Given the description of an element on the screen output the (x, y) to click on. 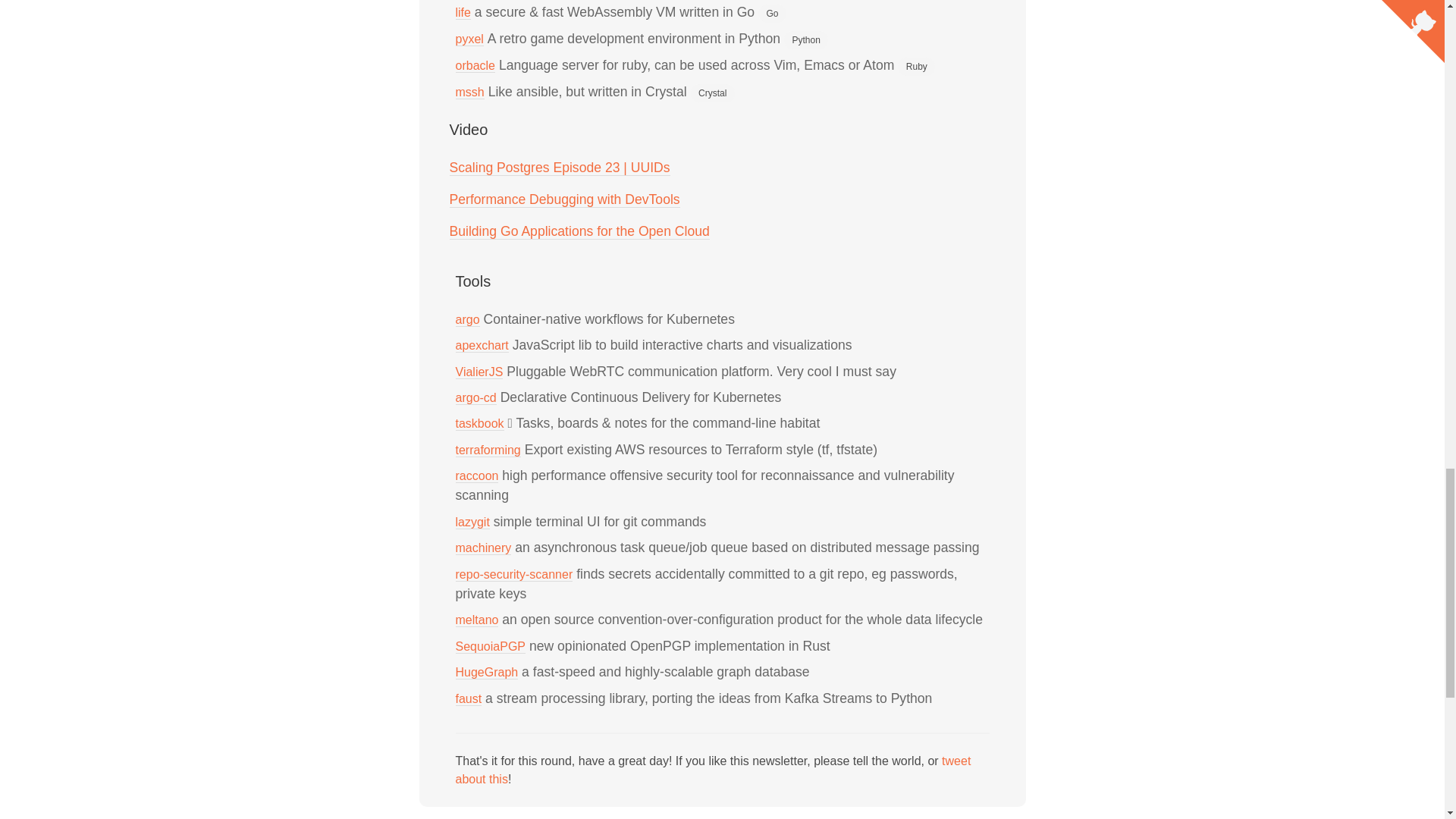
pyxel (468, 38)
argo (466, 319)
mssh (468, 92)
life (462, 12)
apexchart (481, 345)
Performance Debugging with DevTools (563, 199)
orbacle (474, 65)
argo-cd (475, 397)
VialierJS (478, 372)
Building Go Applications for the Open Cloud (578, 231)
